Given the description of an element on the screen output the (x, y) to click on. 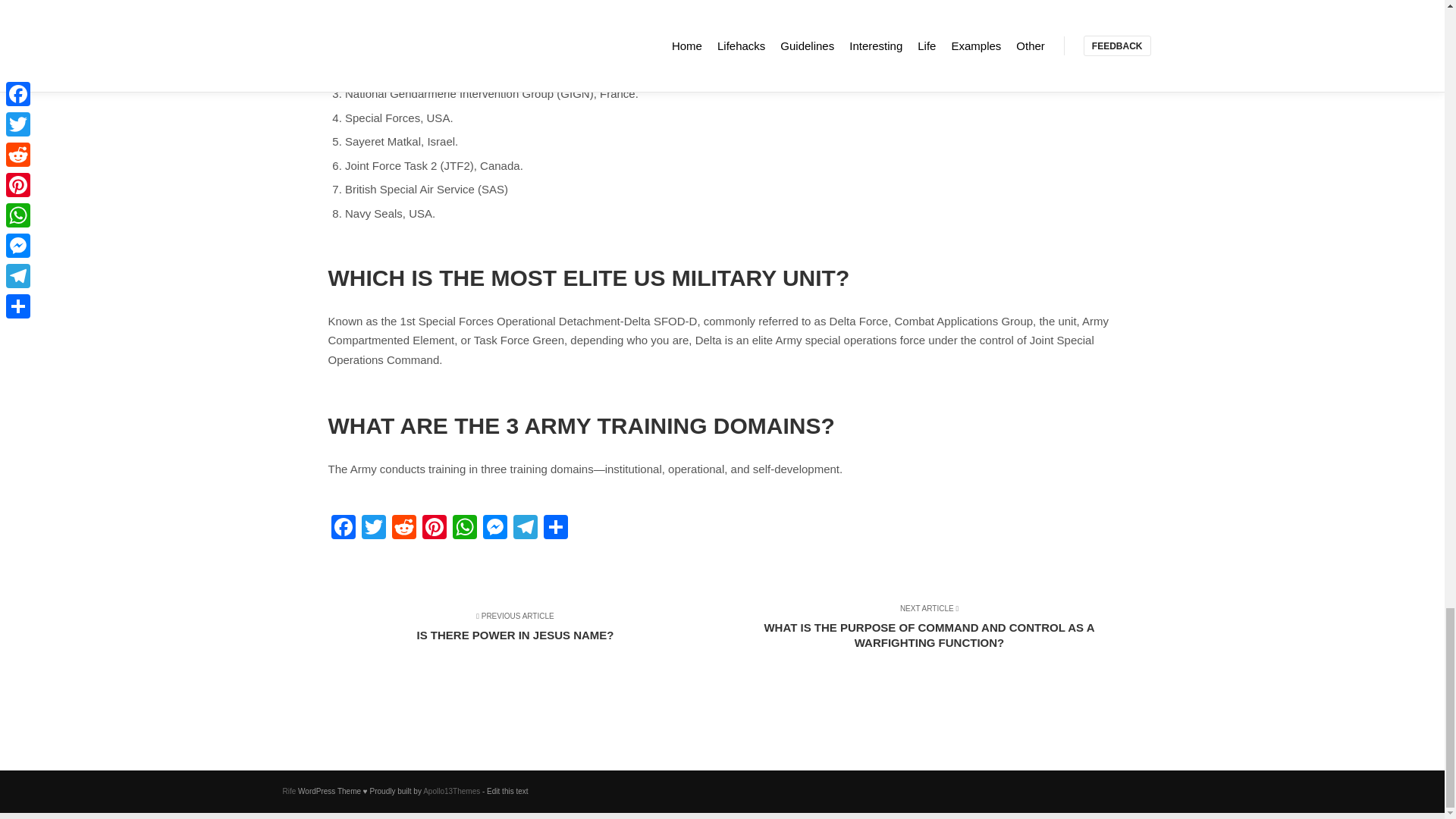
Twitter (373, 528)
WhatsApp (463, 528)
WhatsApp (463, 528)
Reddit (403, 528)
Messenger (494, 528)
Telegram (524, 528)
Facebook (524, 633)
Twitter (342, 528)
